Given the description of an element on the screen output the (x, y) to click on. 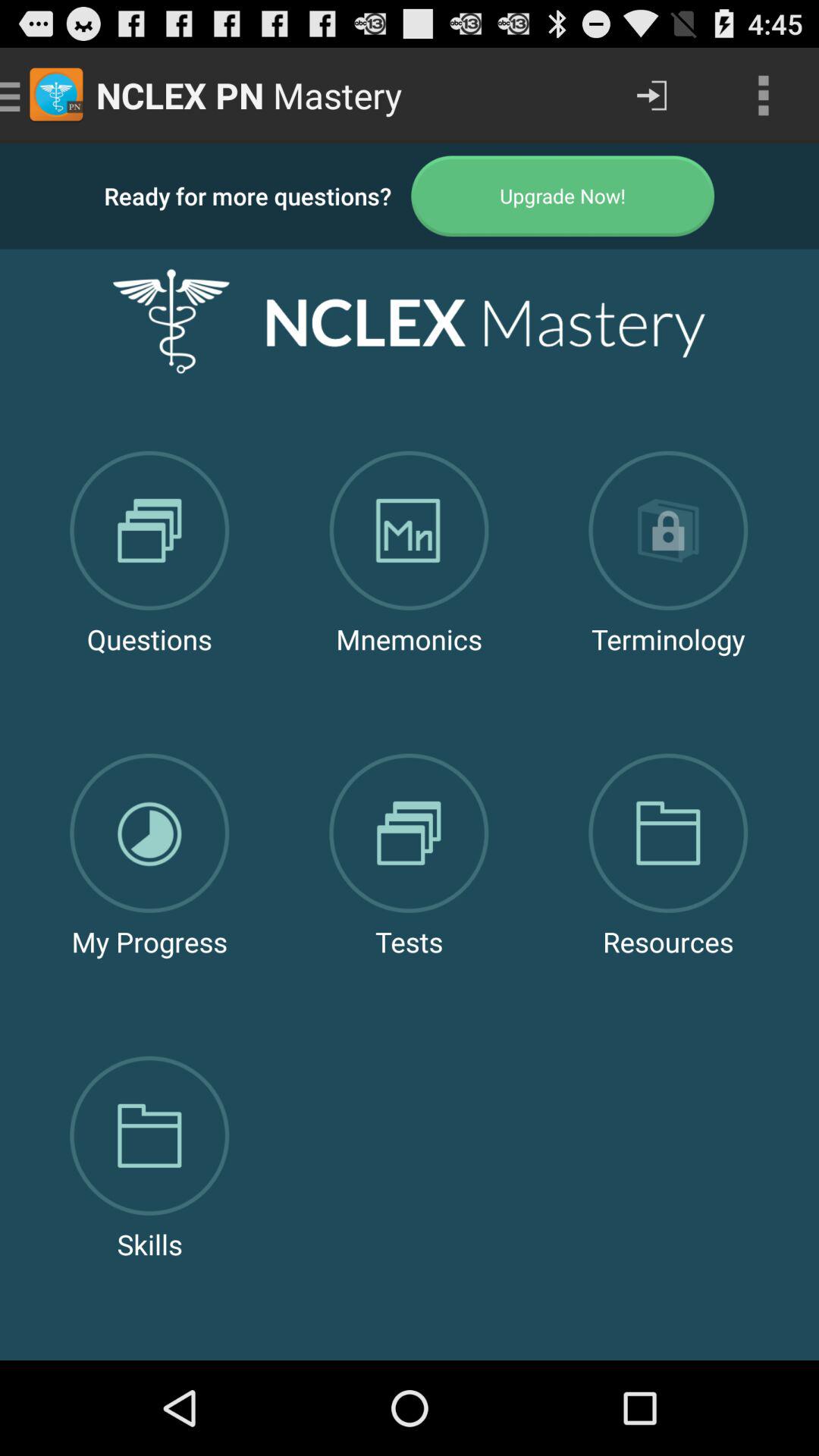
upgrade now (562, 195)
